Given the description of an element on the screen output the (x, y) to click on. 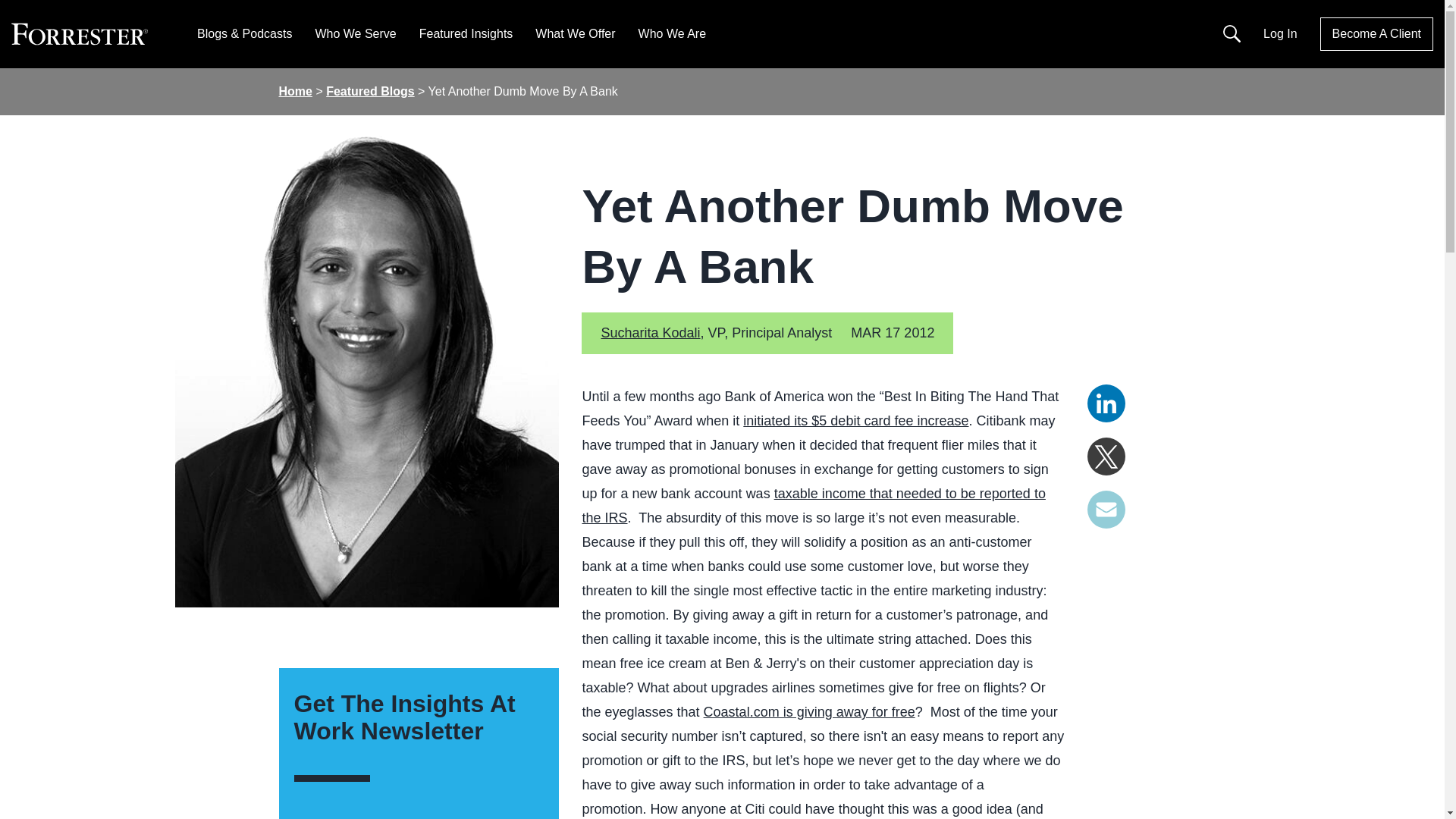
Who We Serve (355, 33)
Posts by Sucharita Kodali (649, 332)
Featured Insights (466, 33)
What We Offer (574, 33)
